Given the description of an element on the screen output the (x, y) to click on. 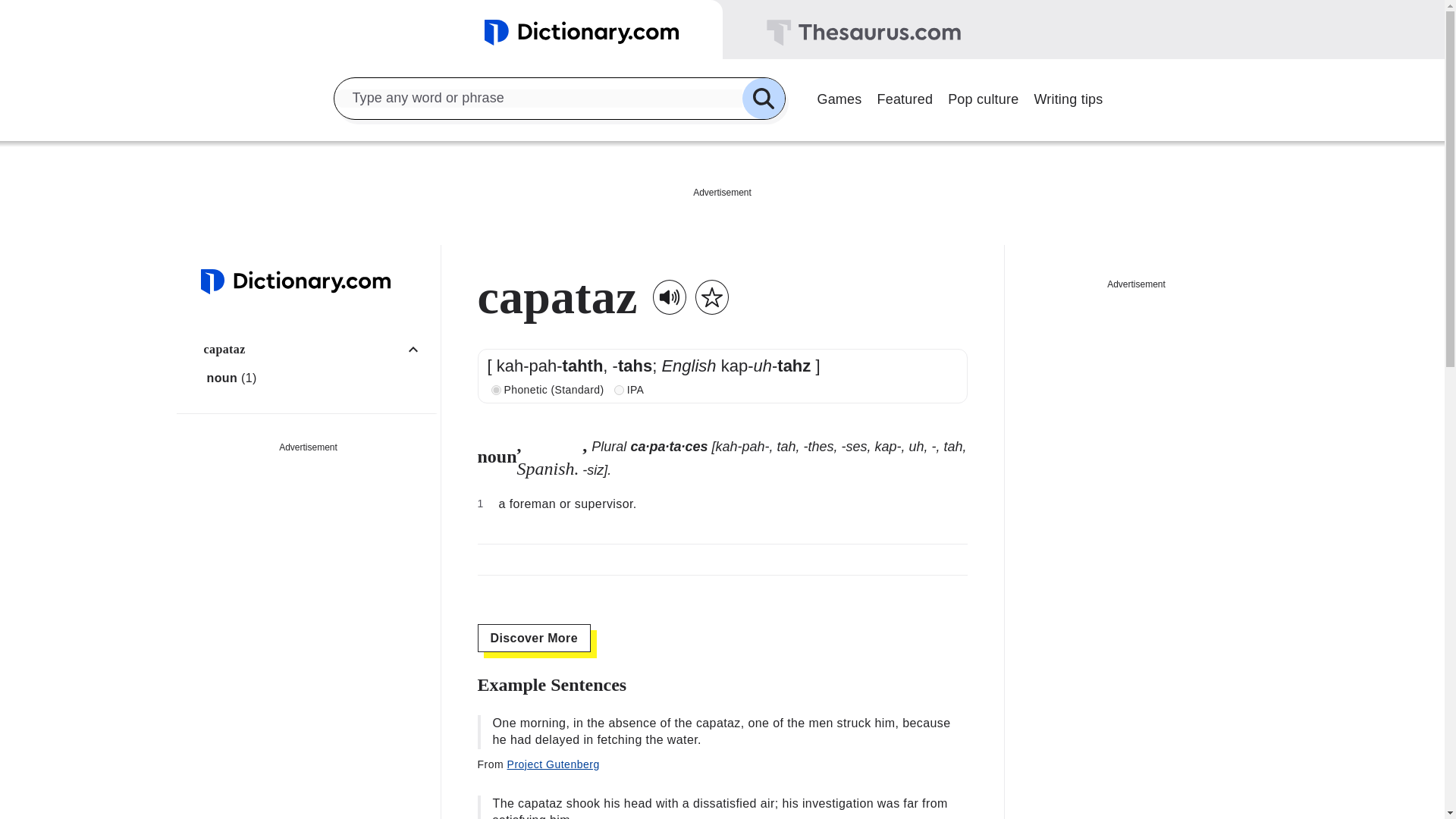
phonetic (496, 389)
Pop culture (983, 97)
Games (839, 97)
Project Gutenberg (552, 764)
ipa (619, 389)
Featured (904, 97)
capataz (316, 349)
Writing tips (1067, 97)
